Given the description of an element on the screen output the (x, y) to click on. 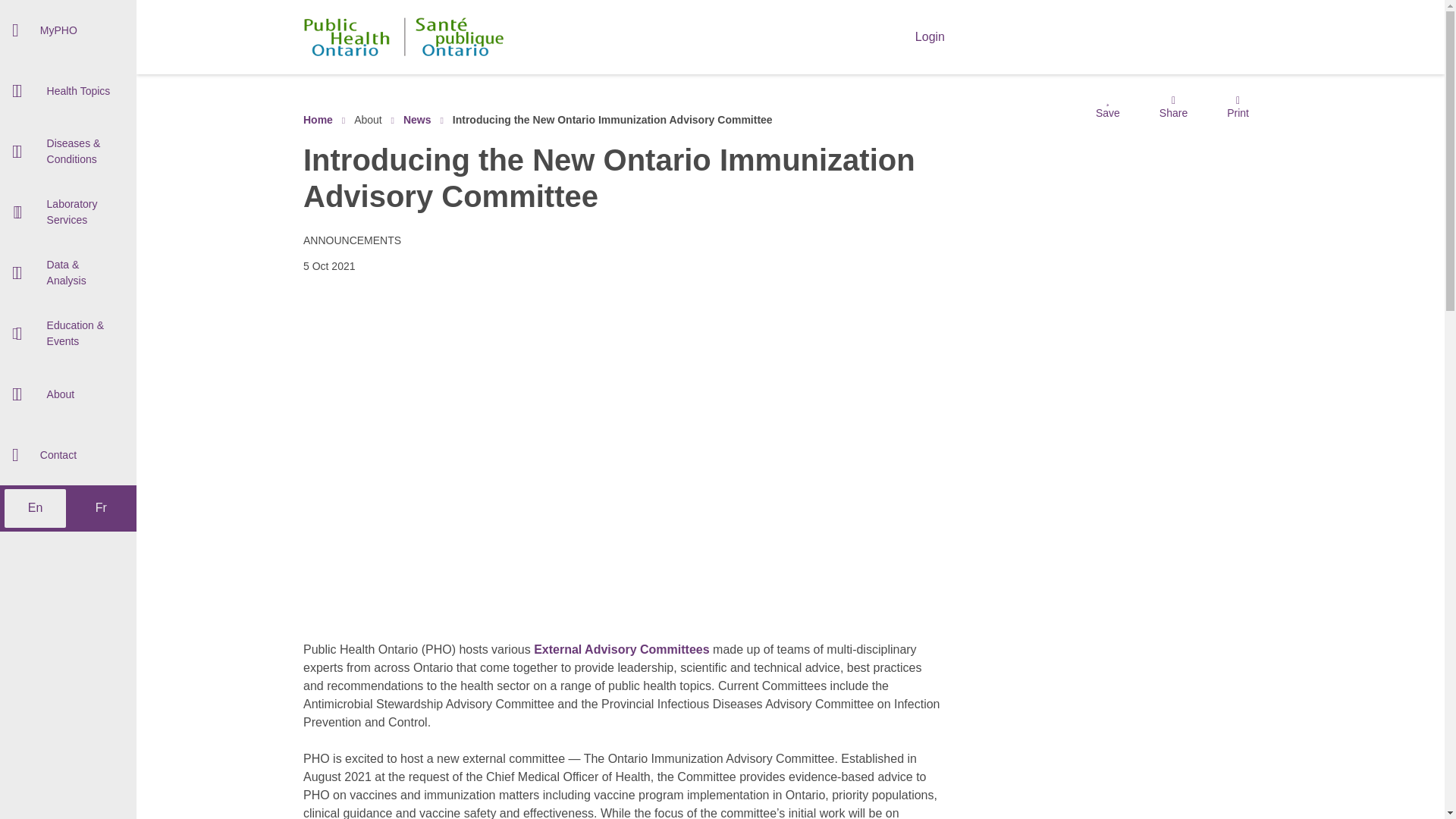
Health Hazards (68, 251)
Water Quality (68, 291)
Healthy Environments (68, 212)
Antimicrobial Stewardship Strategies (68, 195)
Antimicrobial Stewardship (68, 76)
Health Promotion (68, 234)
Antimicrobial Stewardship in Primary Care (68, 156)
Food Safety (68, 173)
MyPHO (68, 30)
Emergency Preparedness (68, 115)
